Given the description of an element on the screen output the (x, y) to click on. 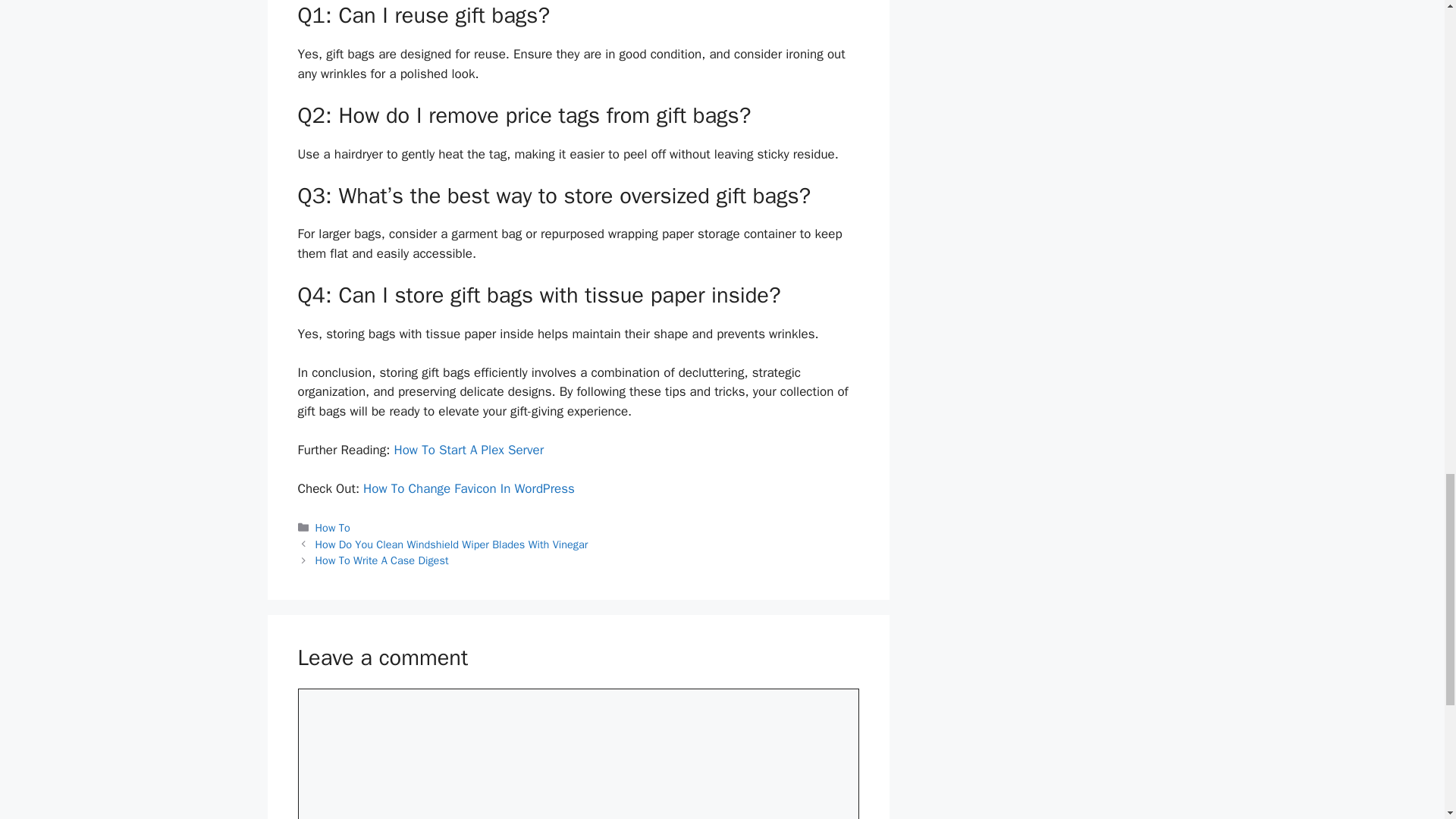
How To (332, 527)
How To Write A Case Digest (381, 560)
How To Start A Plex Server (468, 449)
How To Change Favicon In WordPress (468, 488)
How Do You Clean Windshield Wiper Blades With Vinegar (451, 544)
